Given the description of an element on the screen output the (x, y) to click on. 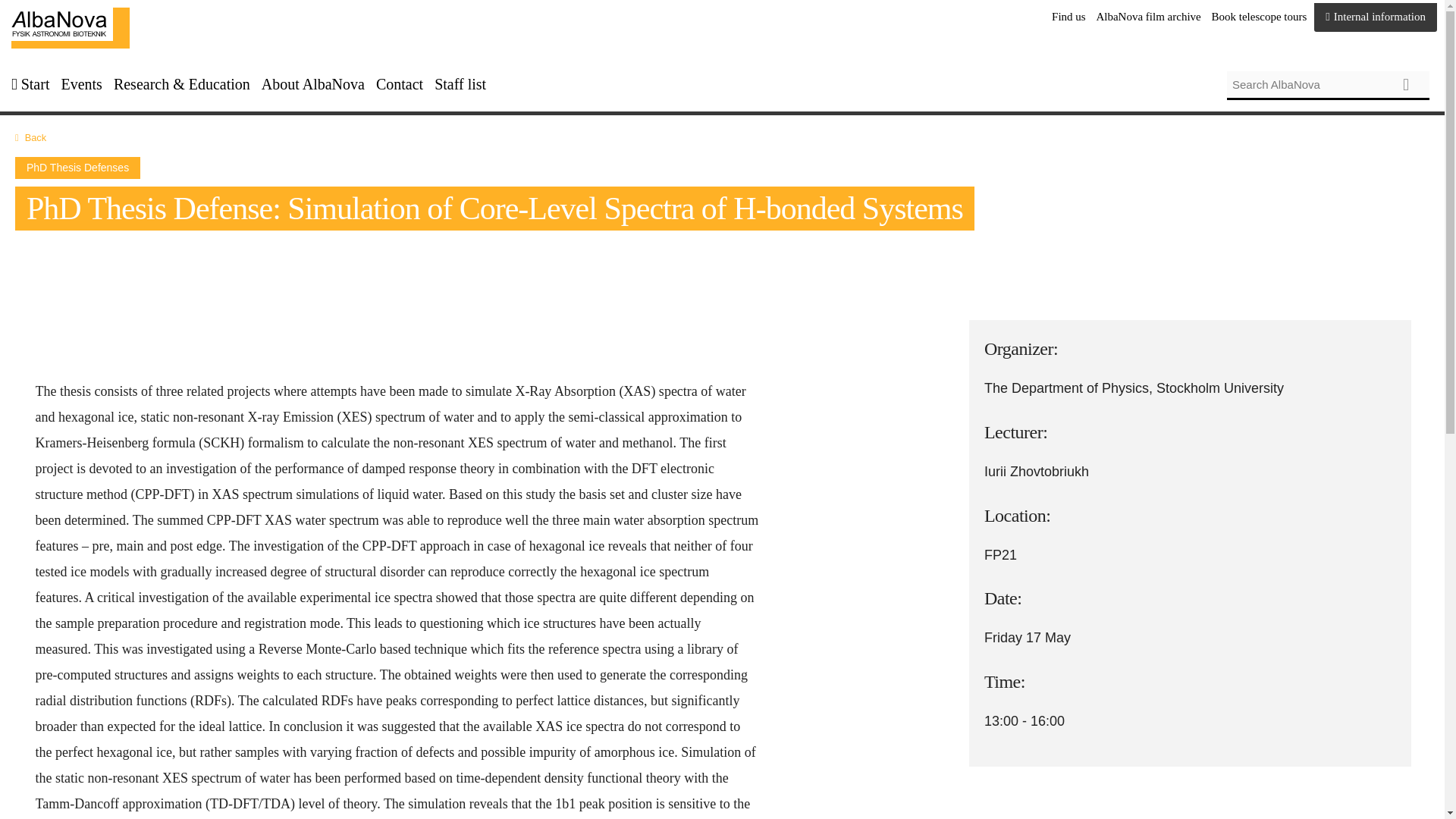
AlbaNova film archive (1147, 17)
Staff list (459, 85)
About AlbaNova (313, 85)
Back (35, 137)
Find us (1068, 17)
Book telescope tours (1258, 17)
Contact (399, 85)
Start (35, 85)
Events (81, 85)
Start (70, 26)
